Given the description of an element on the screen output the (x, y) to click on. 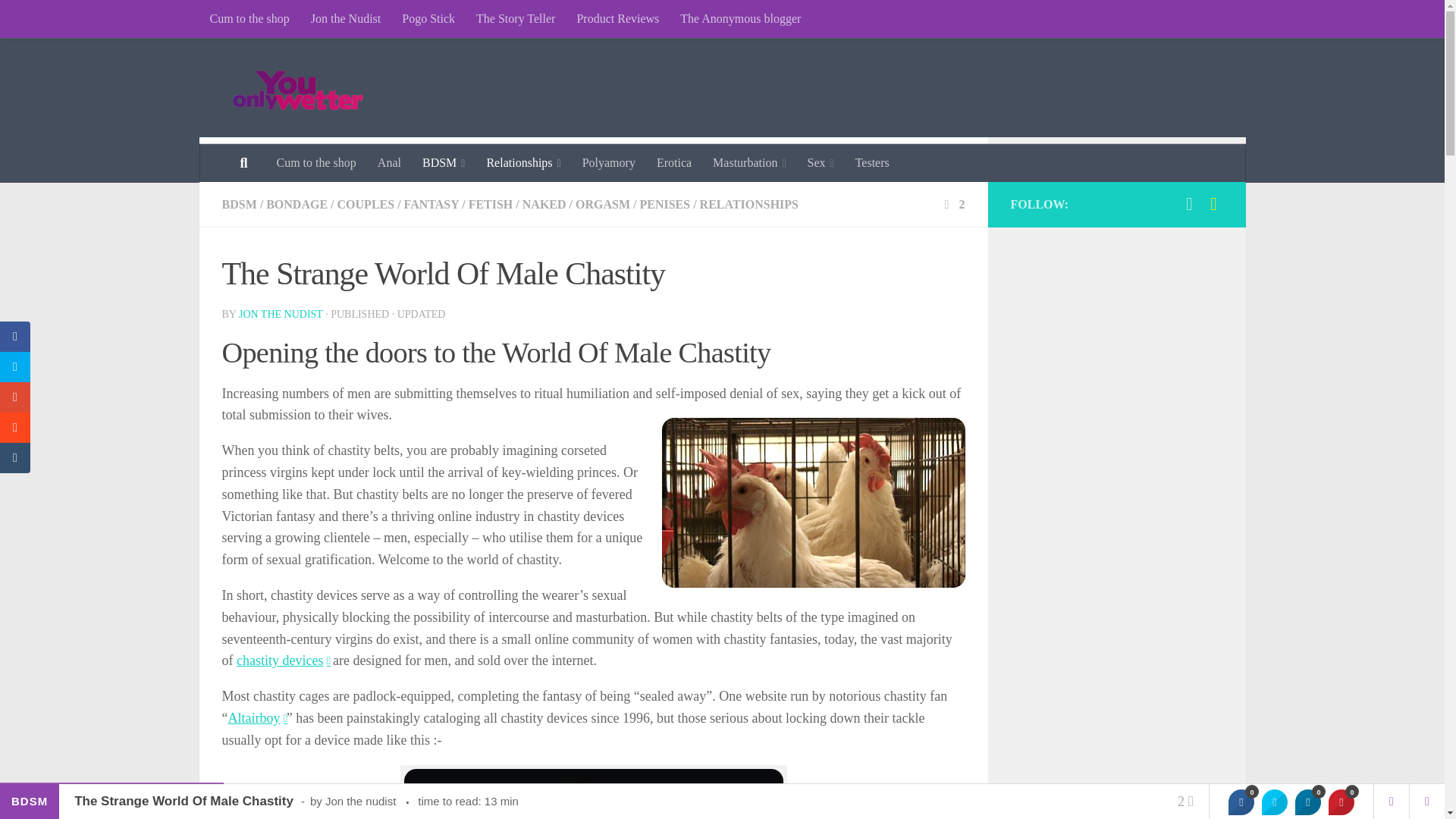
The Story Teller (515, 18)
Pogo Stick (428, 18)
Cum to the shop (315, 162)
Posts by Jon the nudist (280, 314)
The Anonymous blogger (739, 18)
Skip to content (59, 20)
Product Reviews (617, 18)
BDSM (444, 162)
Anal (389, 162)
Cum to the shop (248, 18)
chastity (282, 660)
Jon the Nudist (345, 18)
